Given the description of an element on the screen output the (x, y) to click on. 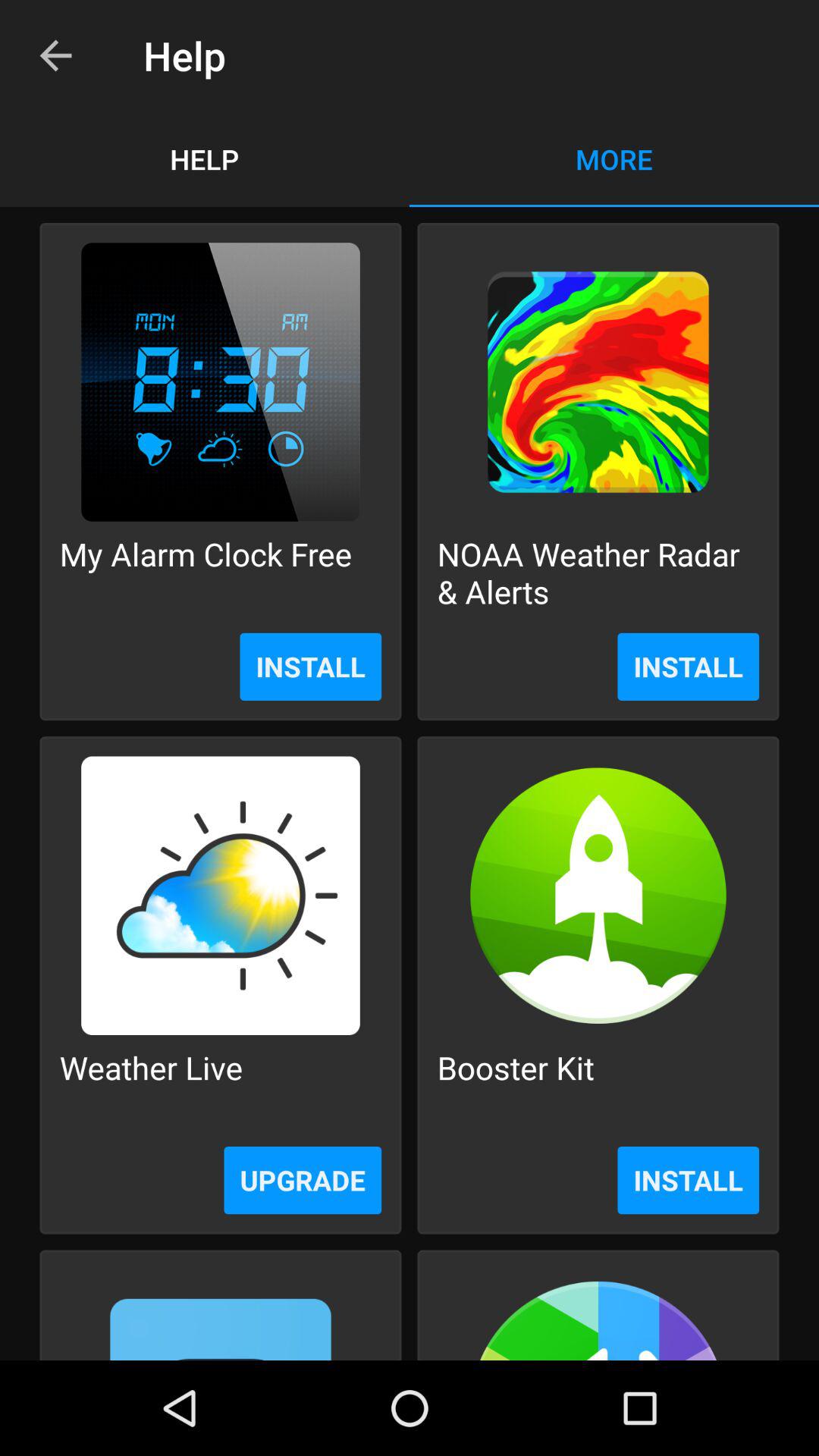
choose the booster kit icon (515, 1085)
